Given the description of an element on the screen output the (x, y) to click on. 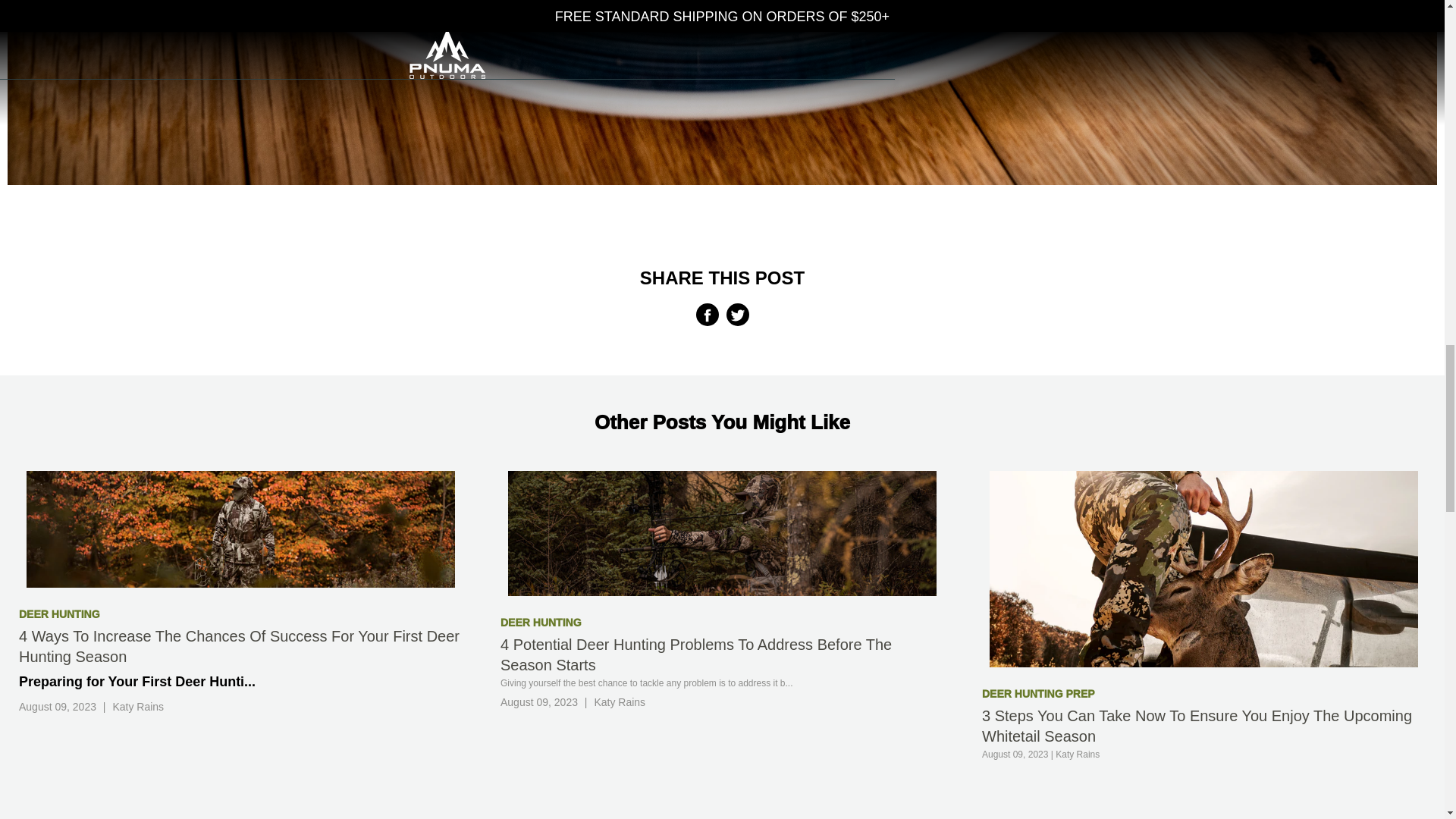
Tweet on Twitter (737, 314)
Share on Facebook (707, 314)
